Given the description of an element on the screen output the (x, y) to click on. 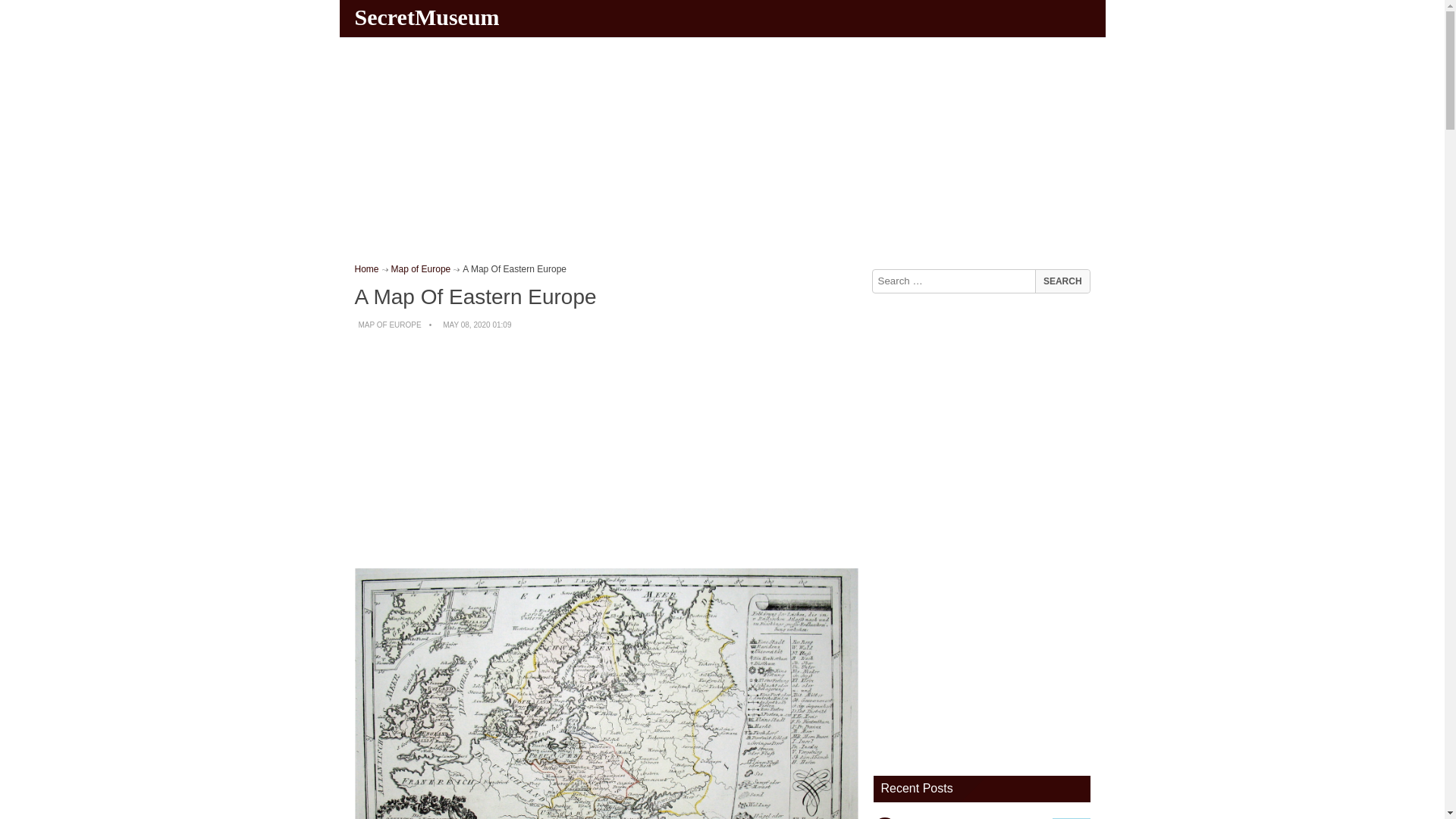
Map of Europe (421, 268)
Search (1062, 281)
Home (366, 268)
Search (1062, 281)
Advertisement (607, 449)
MAP OF EUROPE (389, 325)
SecretMuseum (429, 16)
